Given the description of an element on the screen output the (x, y) to click on. 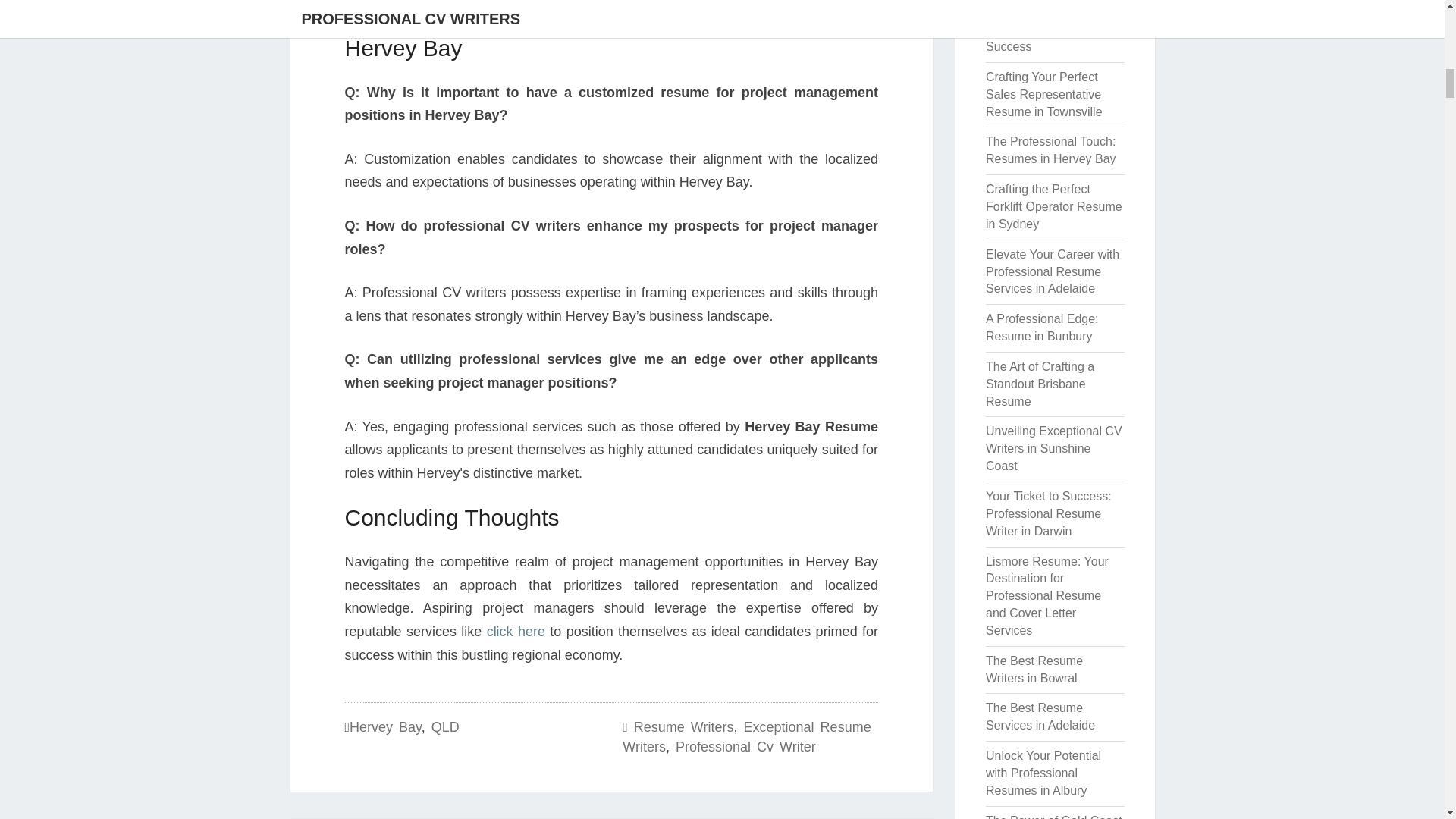
click here (515, 631)
Professional Cv Writer (745, 746)
Resume Writers (683, 726)
Exceptional Resume Writers (746, 736)
Hervey Bay (385, 726)
QLD (445, 726)
